Given the description of an element on the screen output the (x, y) to click on. 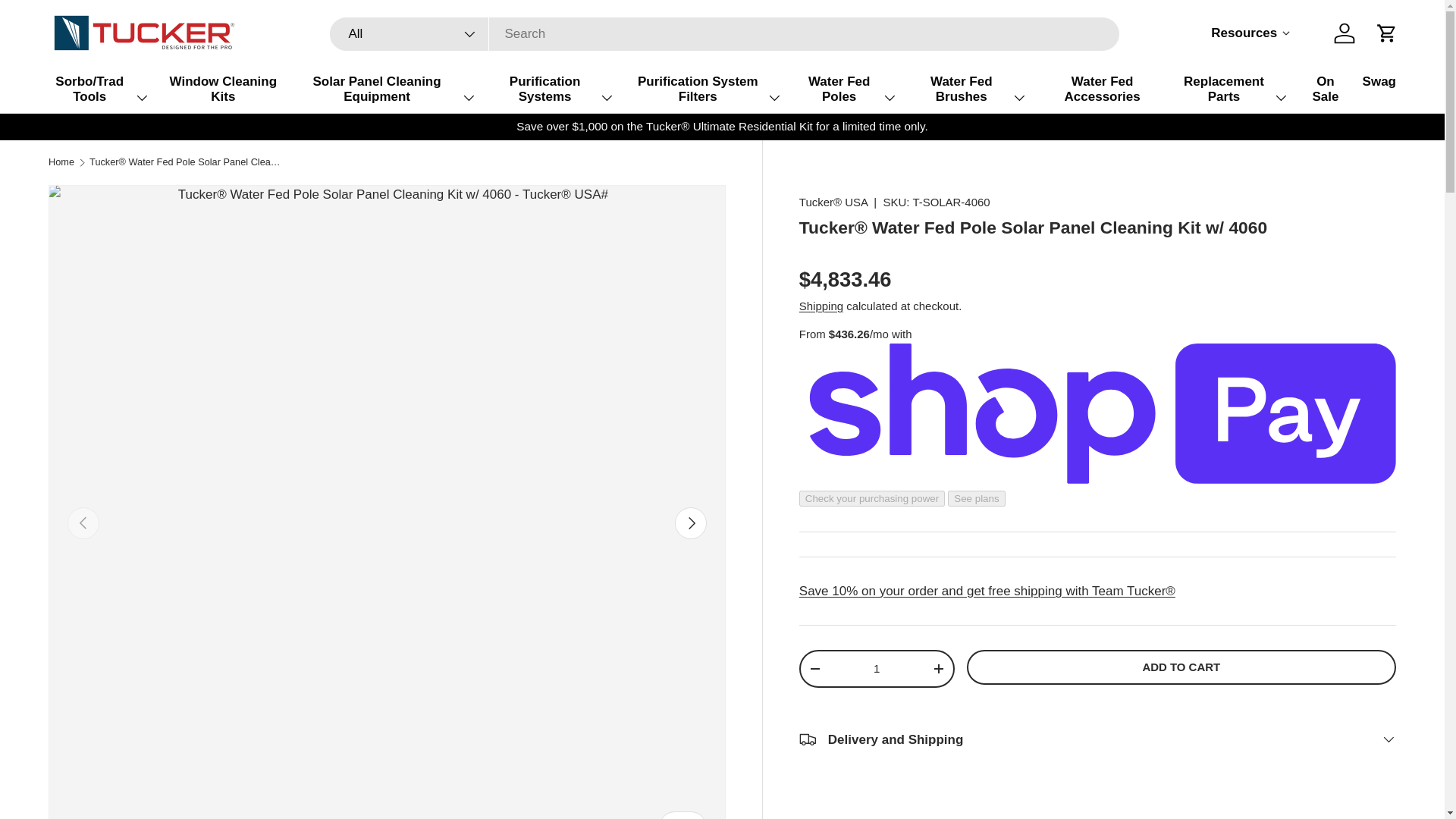
Purification System Filters (1250, 33)
Log in (706, 89)
All (1344, 32)
Solar Panel Cleaning Equipment (409, 32)
1 (386, 89)
Window Cleaning Kits (876, 668)
SKIP TO CONTENT (222, 89)
Cart (69, 21)
Purification Systems (1386, 32)
